Given the description of an element on the screen output the (x, y) to click on. 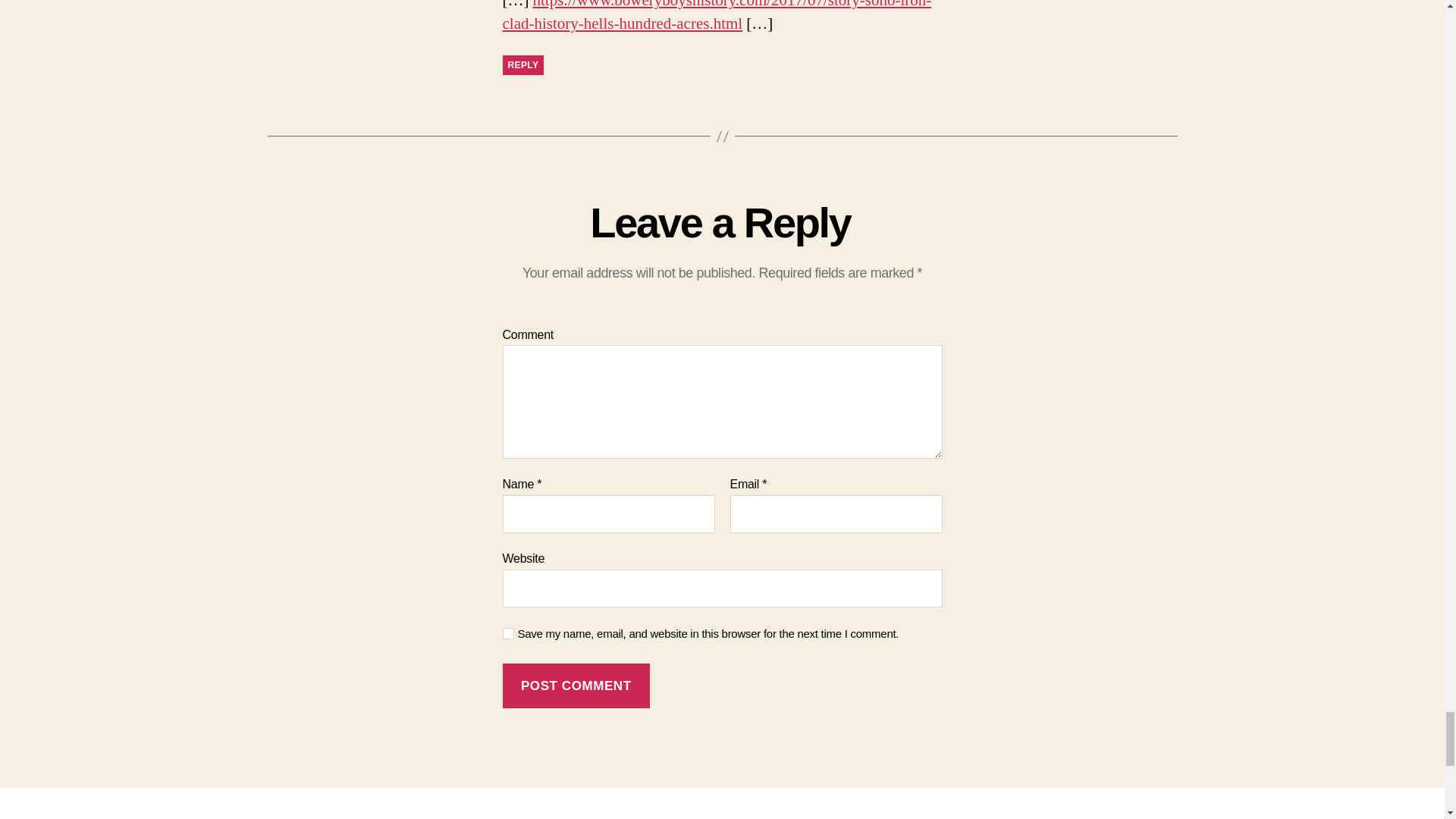
yes (507, 633)
REPLY (522, 65)
Post Comment (575, 685)
